Given the description of an element on the screen output the (x, y) to click on. 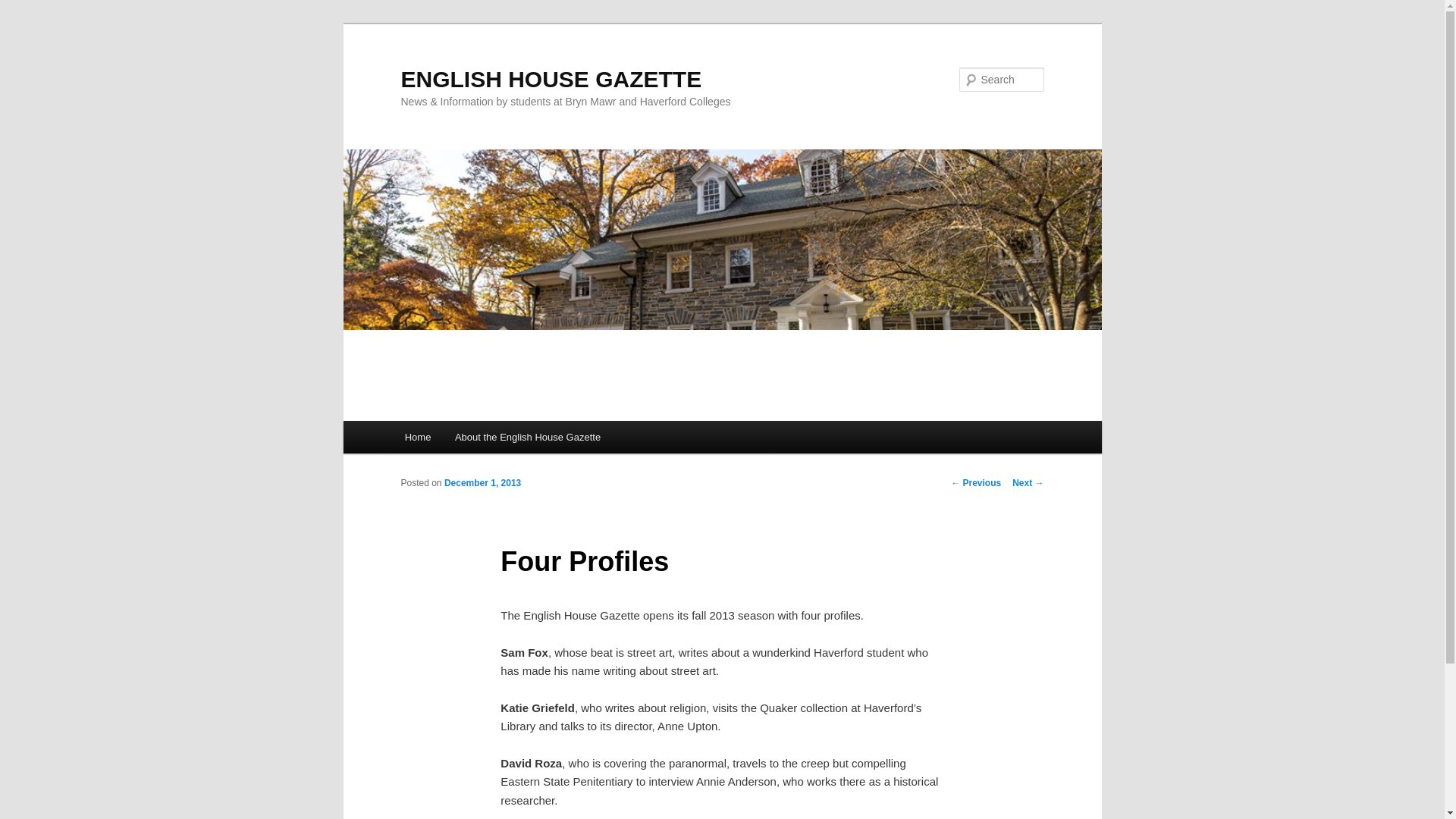
ENGLISH HOUSE GAZETTE (550, 78)
About the English House Gazette (527, 436)
December 1, 2013 (482, 482)
9:23 am (482, 482)
Search (24, 8)
Home (417, 436)
